Given the description of an element on the screen output the (x, y) to click on. 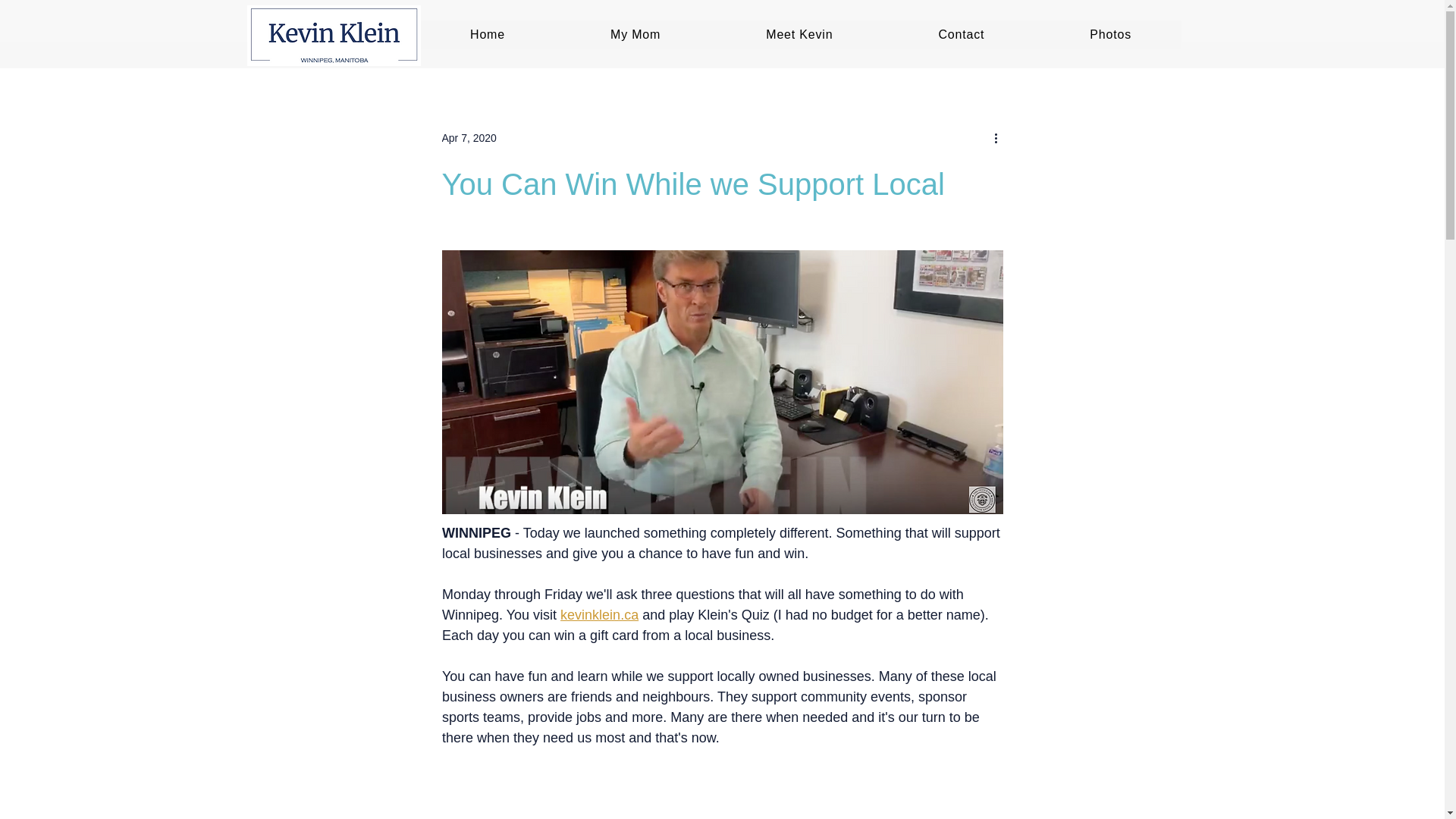
Photos (1110, 34)
Contact (960, 34)
Meet Kevin (799, 34)
Home (487, 34)
Apr 7, 2020 (468, 137)
kevinklein.ca (599, 614)
My Mom (635, 34)
